Given the description of an element on the screen output the (x, y) to click on. 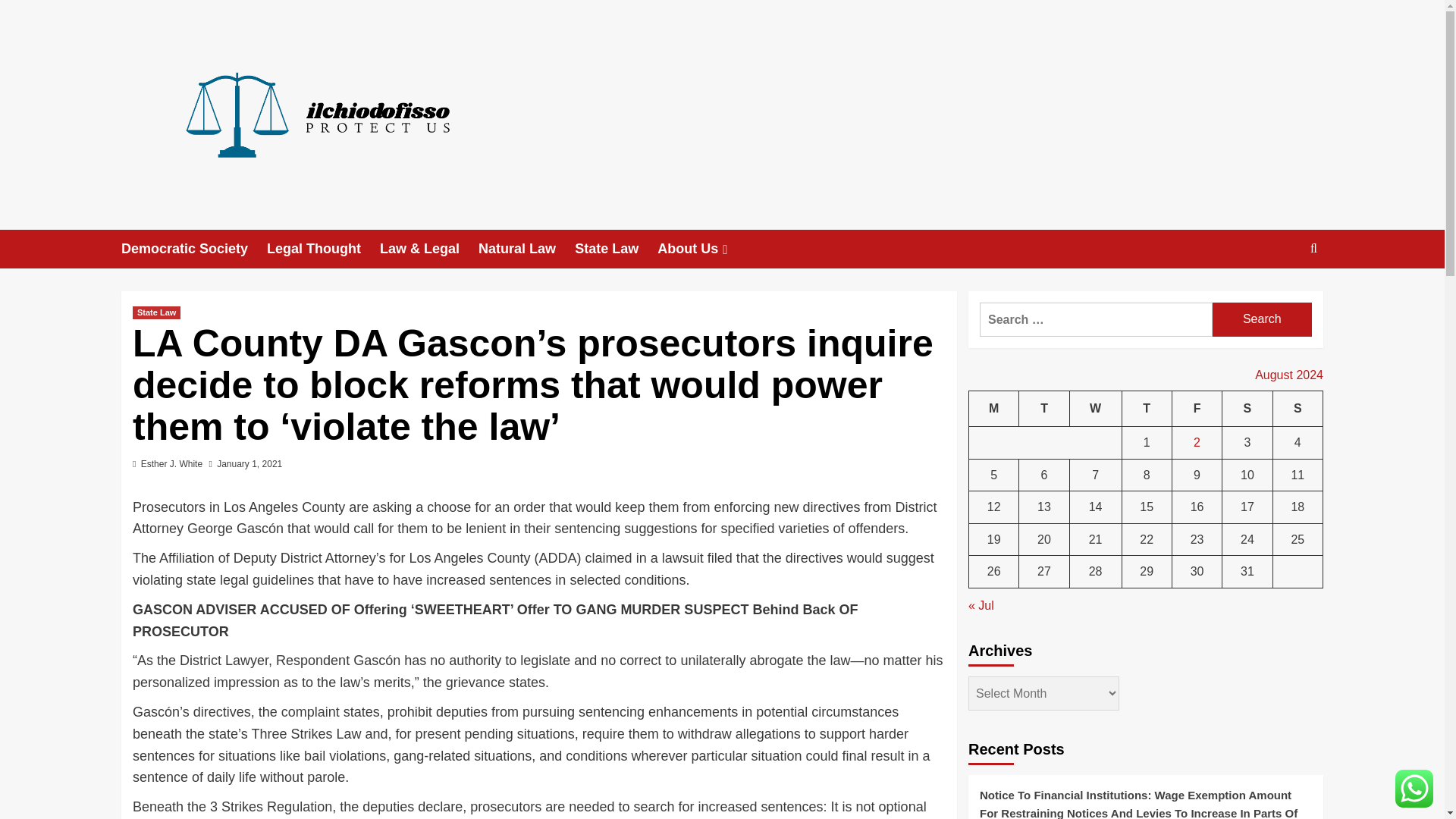
Search (1278, 295)
Democratic Society (193, 249)
Search (1261, 319)
Search (1261, 319)
January 1, 2021 (249, 463)
Monday (994, 408)
Saturday (1247, 408)
complaint (310, 711)
Friday (1196, 408)
Legal Thought (323, 249)
Natural Law (527, 249)
Tuesday (1043, 408)
Sunday (1297, 408)
Wednesday (1094, 408)
Thursday (1146, 408)
